Given the description of an element on the screen output the (x, y) to click on. 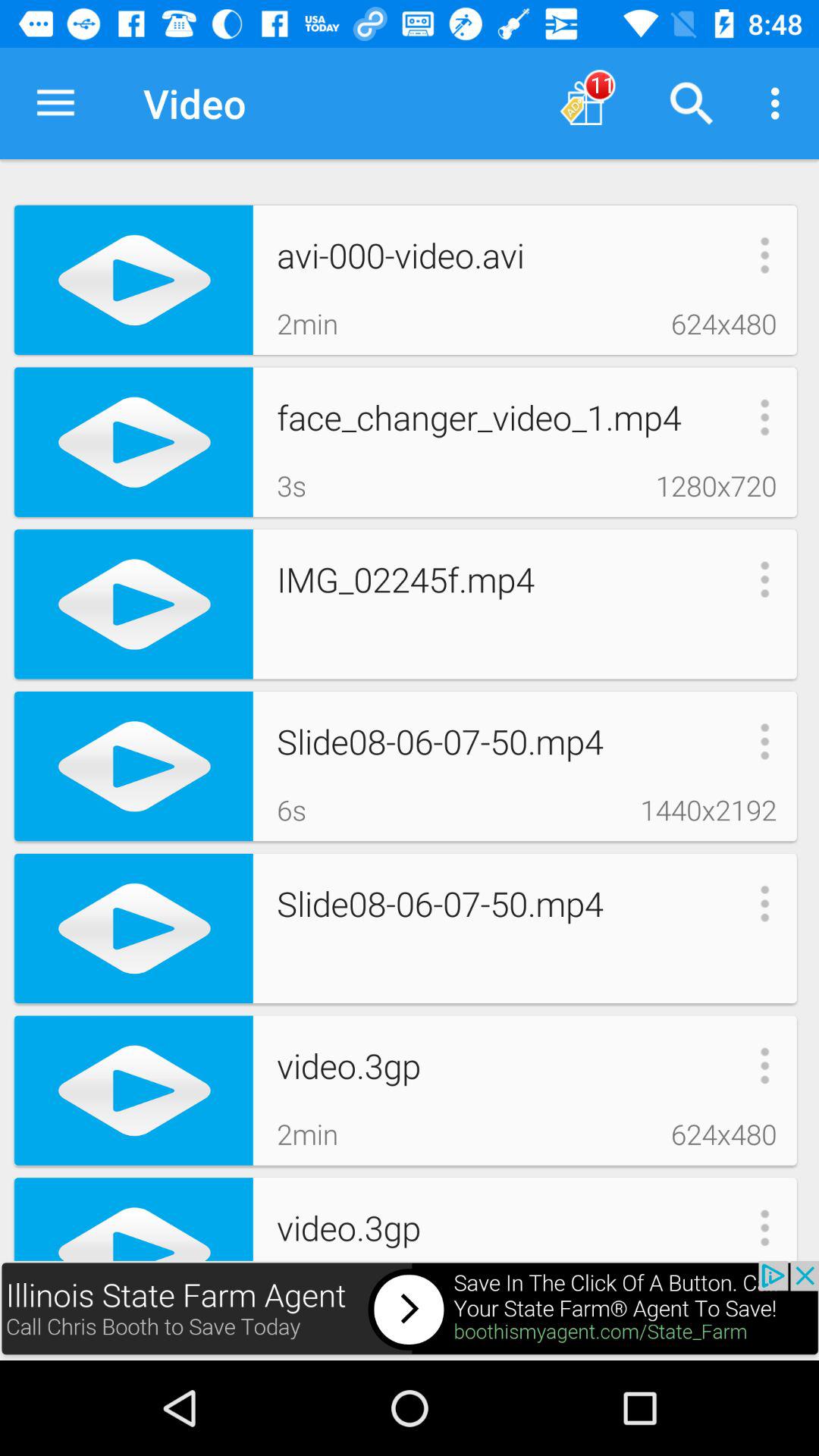
it and advertisement you can click on (409, 1310)
